Given the description of an element on the screen output the (x, y) to click on. 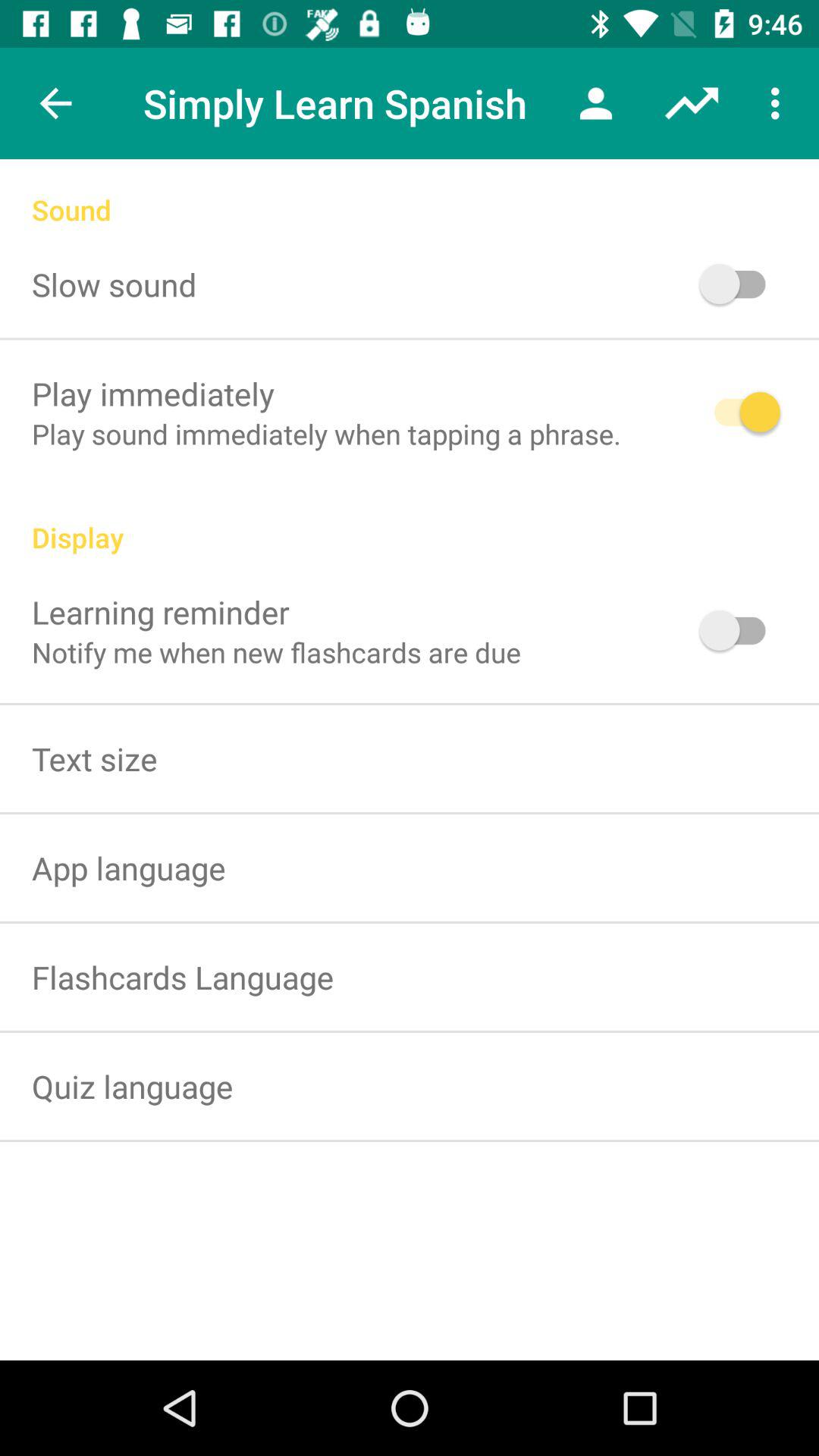
scroll until learning reminder icon (160, 611)
